Given the description of an element on the screen output the (x, y) to click on. 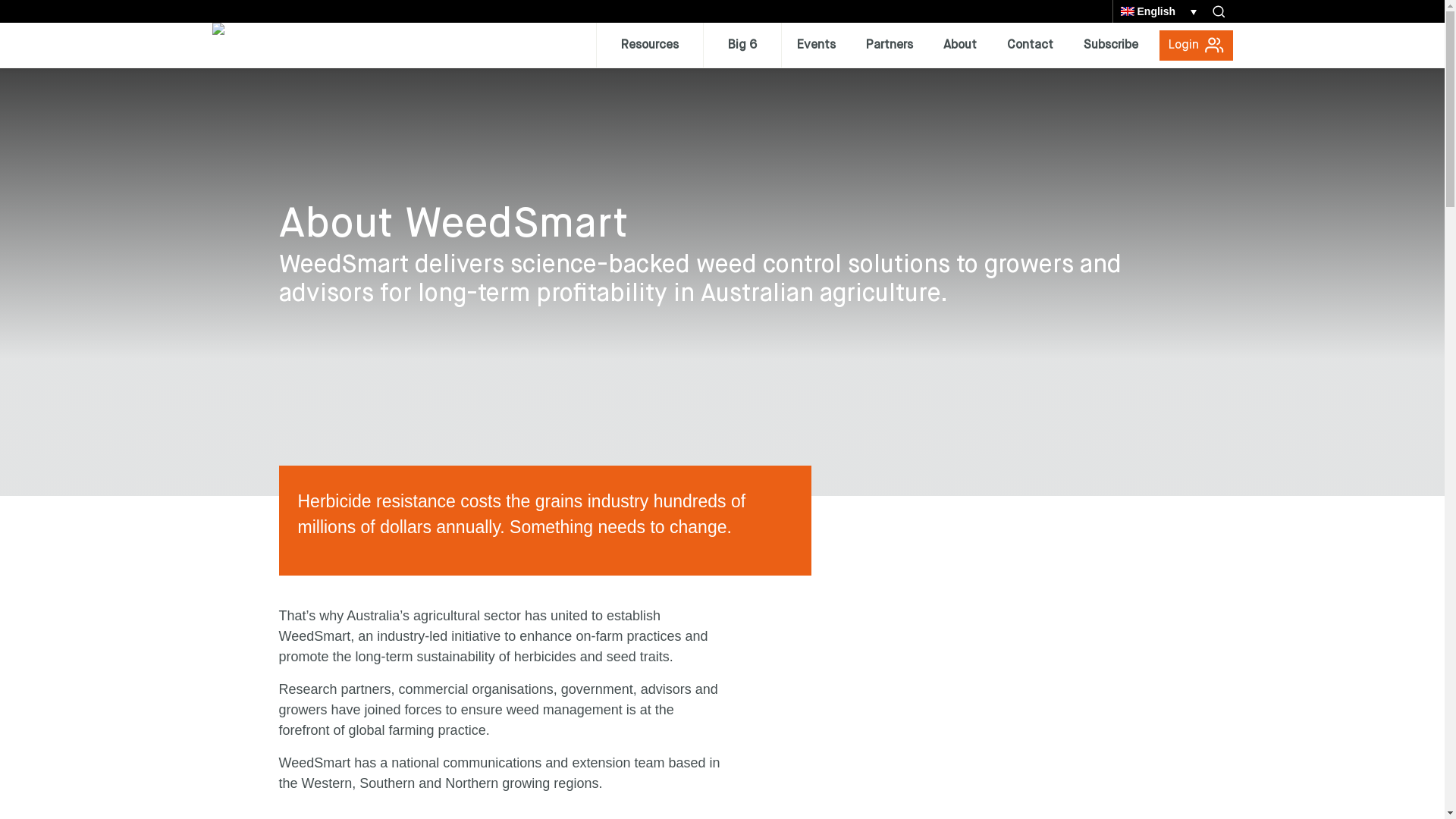
Login Element type: text (1195, 45)
Subscribe Element type: text (1109, 44)
Partners Element type: text (889, 44)
Big 6 Element type: text (742, 44)
Resources Element type: text (649, 44)
English Element type: text (1158, 11)
Contact Element type: text (1029, 44)
About Element type: text (959, 44)
Events Element type: text (815, 44)
